Given the description of an element on the screen output the (x, y) to click on. 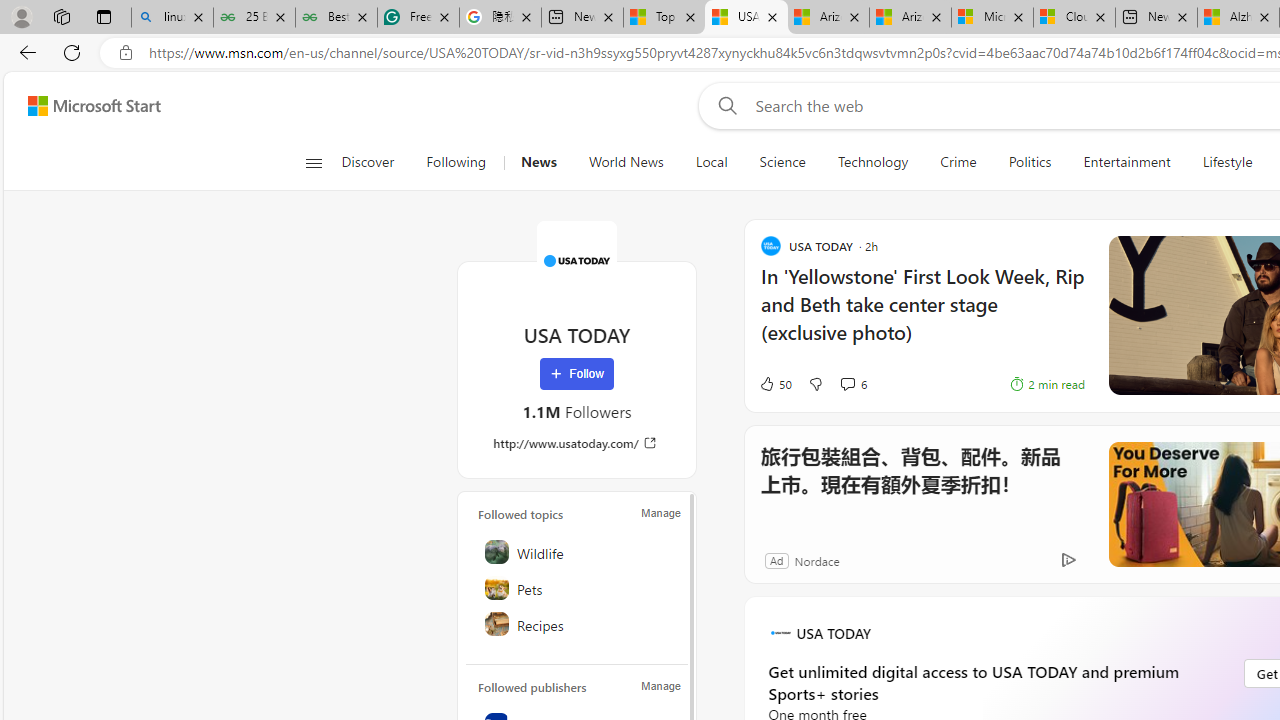
USA TODAY - MSN (746, 17)
View comments 6 Comment (852, 384)
